Given the description of an element on the screen output the (x, y) to click on. 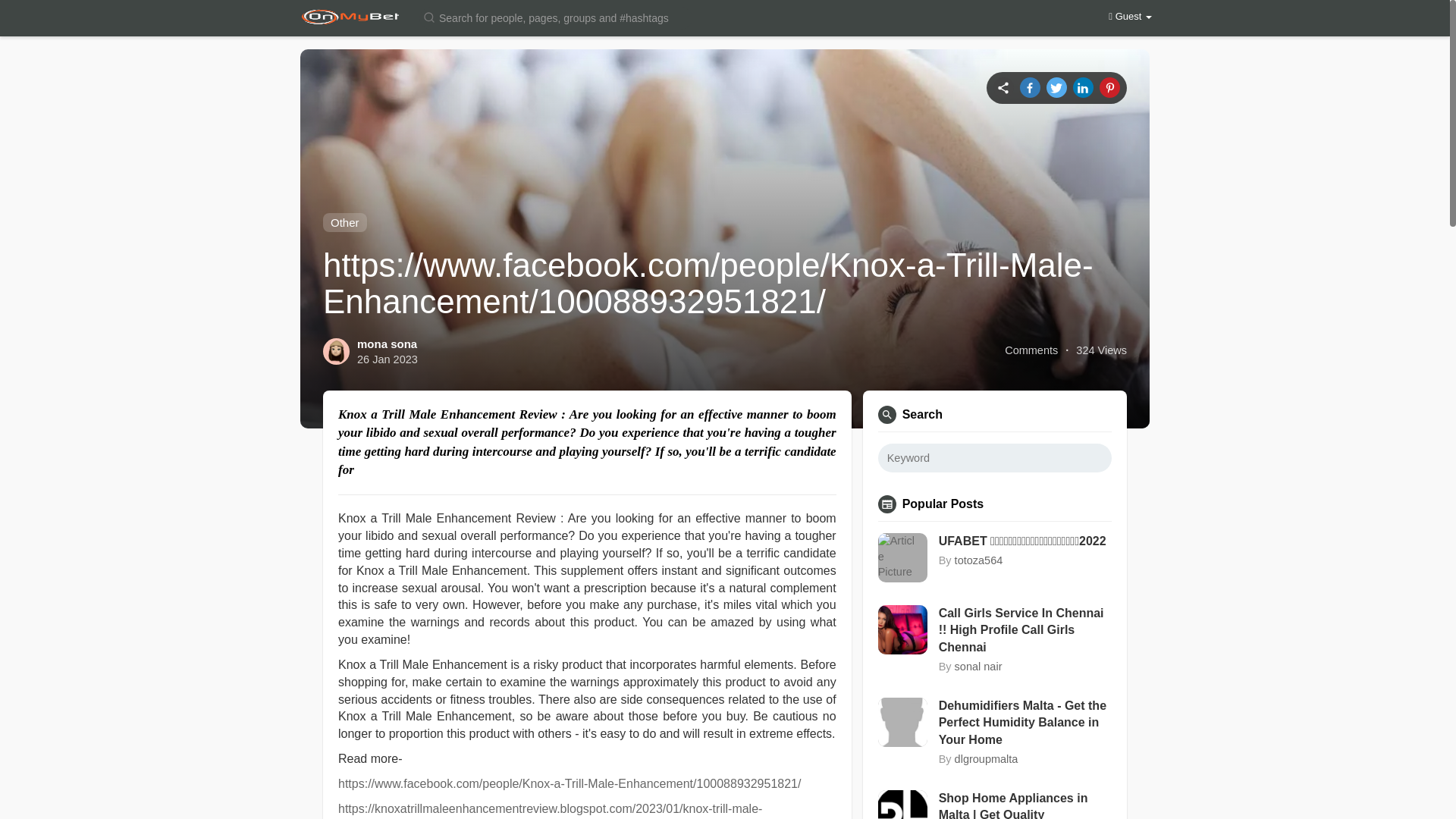
mona sona (386, 343)
Linkedin (1082, 86)
Other (344, 221)
Pinterest (1109, 86)
Twitter (1056, 86)
Facebook (1029, 86)
Guest (1129, 17)
Comments (1031, 350)
Timeline (1002, 86)
